Given the description of an element on the screen output the (x, y) to click on. 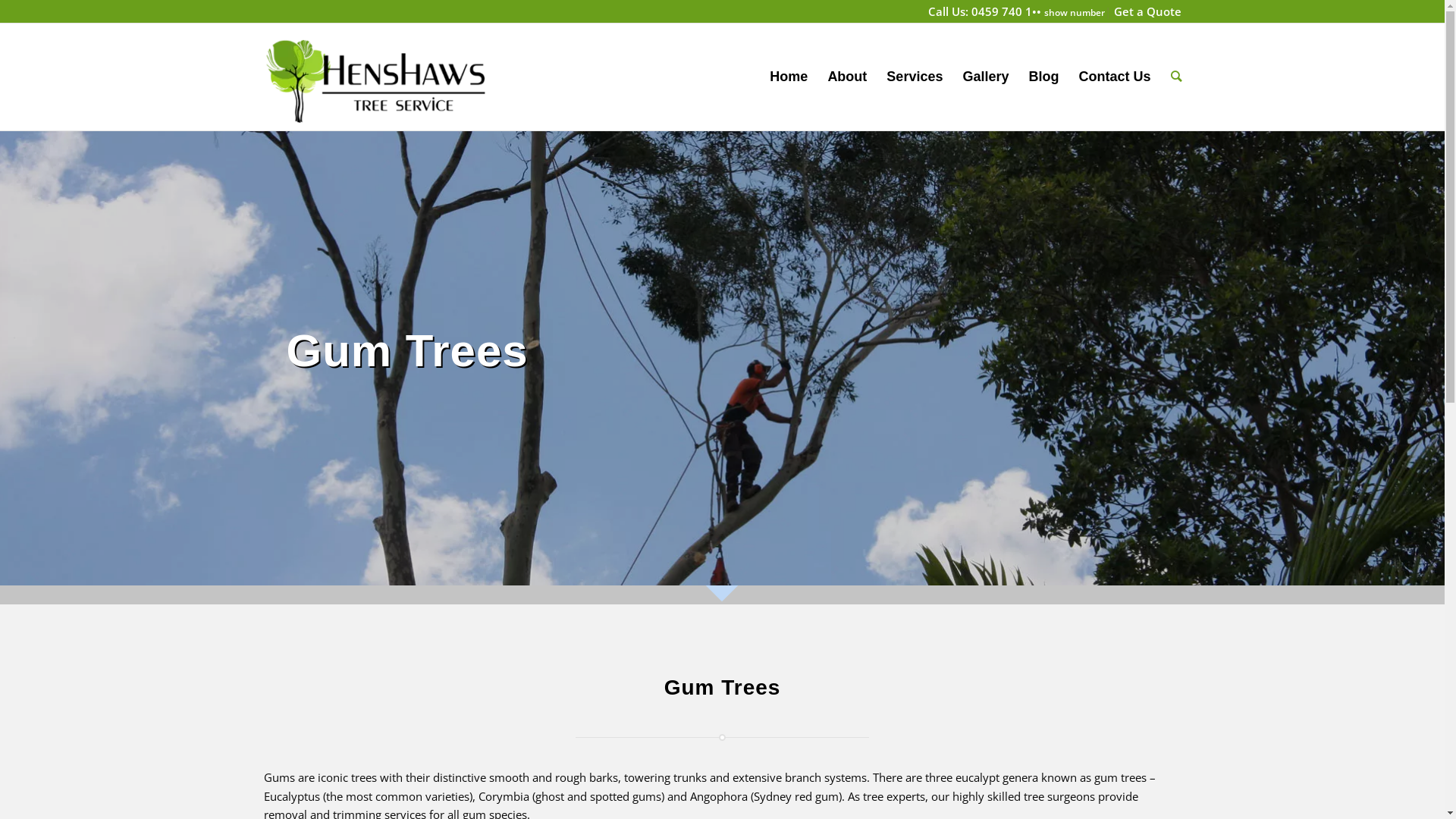
Get a Quote Element type: text (1146, 10)
Services Element type: text (914, 76)
About Element type: text (846, 76)
Gallery Element type: text (985, 76)
Blog Element type: text (1043, 76)
Home Element type: text (788, 76)
Contact Us Element type: text (1114, 76)
